Given the description of an element on the screen output the (x, y) to click on. 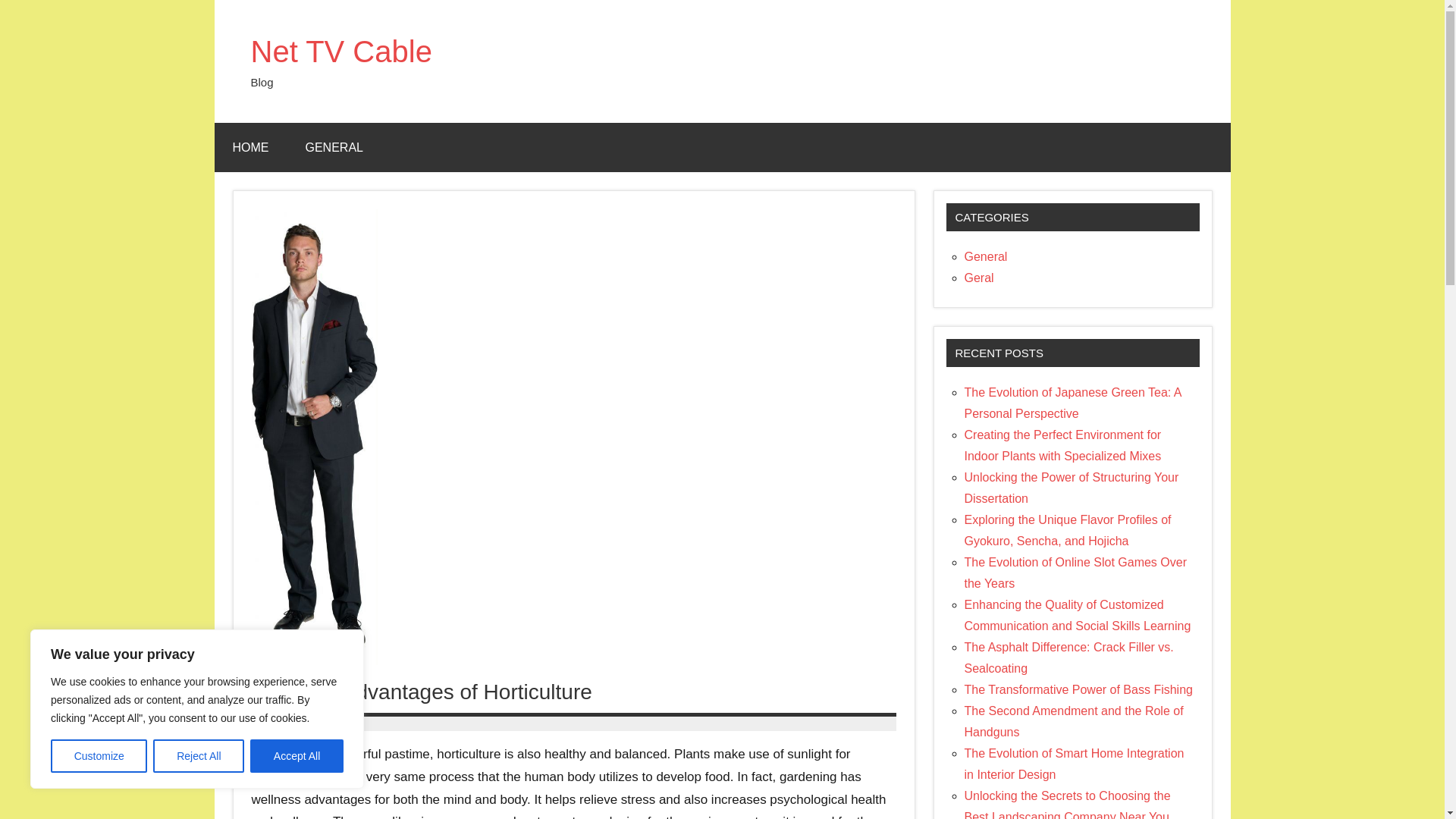
The Evolution of Online Slot Games Over the Years (1074, 572)
The Evolution of Japanese Green Tea: A Personal Perspective (1071, 402)
Customize (98, 756)
Unlocking the Power of Structuring Your Dissertation (1071, 487)
The Asphalt Difference: Crack Filler vs. Sealcoating (1068, 657)
HOME (250, 146)
General (985, 256)
Geral (978, 277)
GENERAL (333, 146)
